Given the description of an element on the screen output the (x, y) to click on. 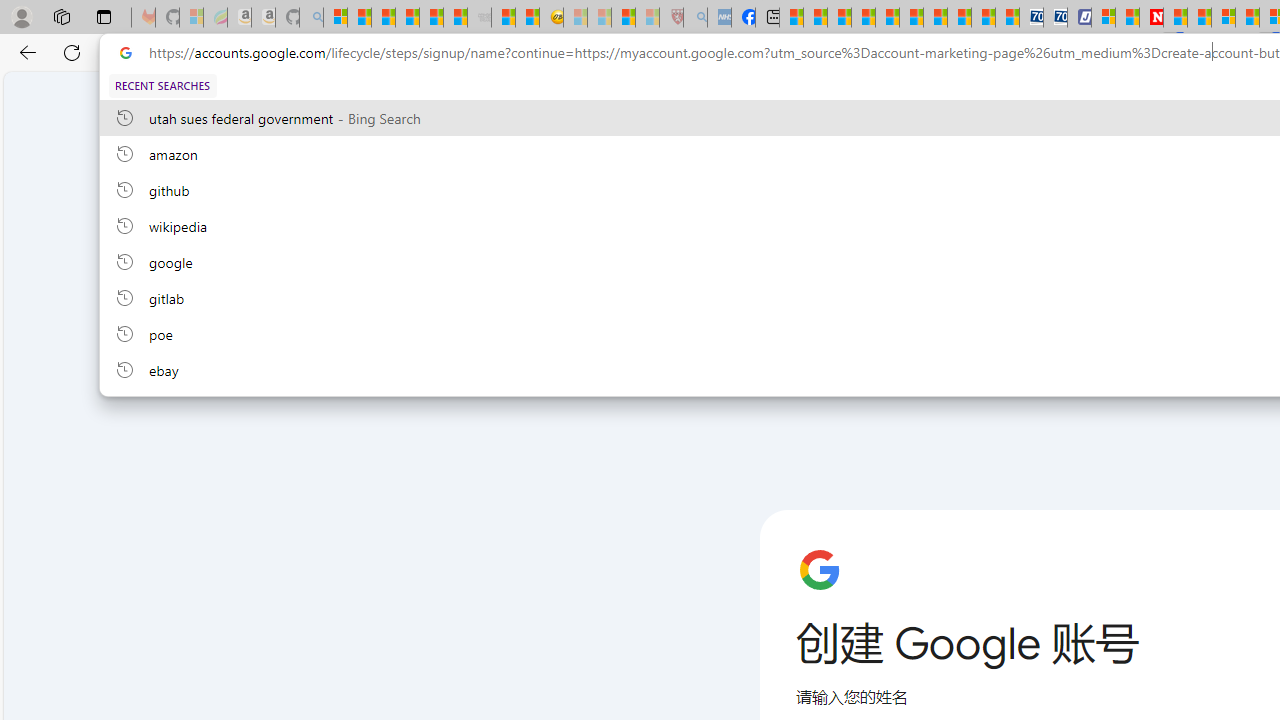
MSNBC - MSN (790, 17)
The Weather Channel - MSN (383, 17)
Latest Politics News & Archive | Newsweek.com (1151, 17)
World - MSN (839, 17)
14 Common Myths Debunked By Scientific Facts (1198, 17)
